Given the description of an element on the screen output the (x, y) to click on. 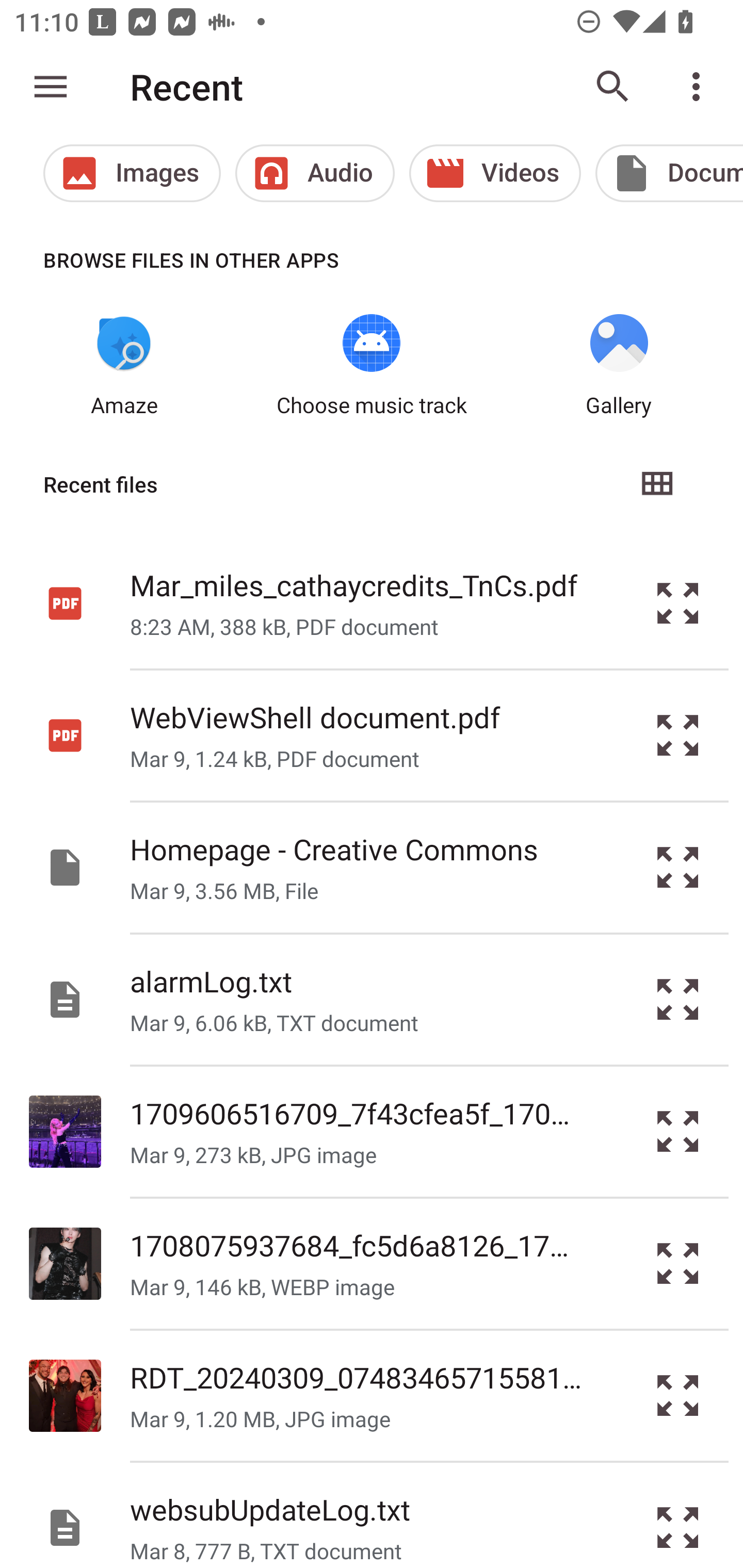
Show roots (50, 86)
Search (612, 86)
More options (699, 86)
Images (131, 173)
Audio (314, 173)
Videos (495, 173)
Documents (669, 173)
Amaze (123, 365)
Choose music track (371, 365)
Gallery (619, 365)
Grid view (655, 484)
Preview the file Mar_miles_cathaycredits_TnCs.pdf (677, 602)
Preview the file WebViewShell document.pdf (677, 736)
Preview the file Homepage - Creative Commons (677, 867)
Preview the file alarmLog.txt (677, 999)
Preview the file websubUpdateLog.txt (677, 1515)
